Given the description of an element on the screen output the (x, y) to click on. 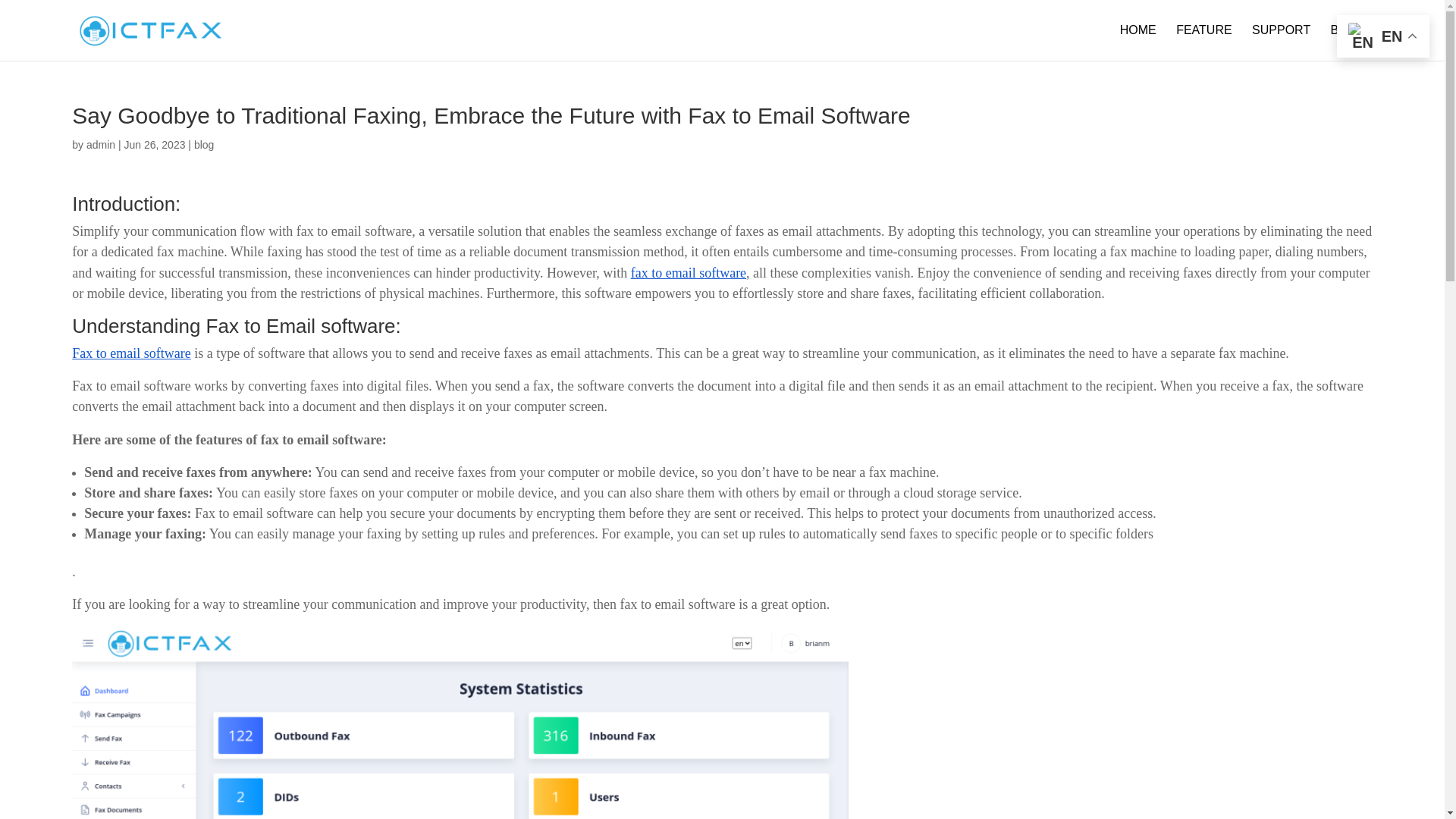
HOME (1137, 42)
blog (203, 144)
admin (100, 144)
Fax to email software (130, 353)
FEATURE (1203, 42)
Posts by admin (100, 144)
SUPPORT (1281, 42)
fax to email software (687, 273)
BLOGS (1351, 42)
